Given the description of an element on the screen output the (x, y) to click on. 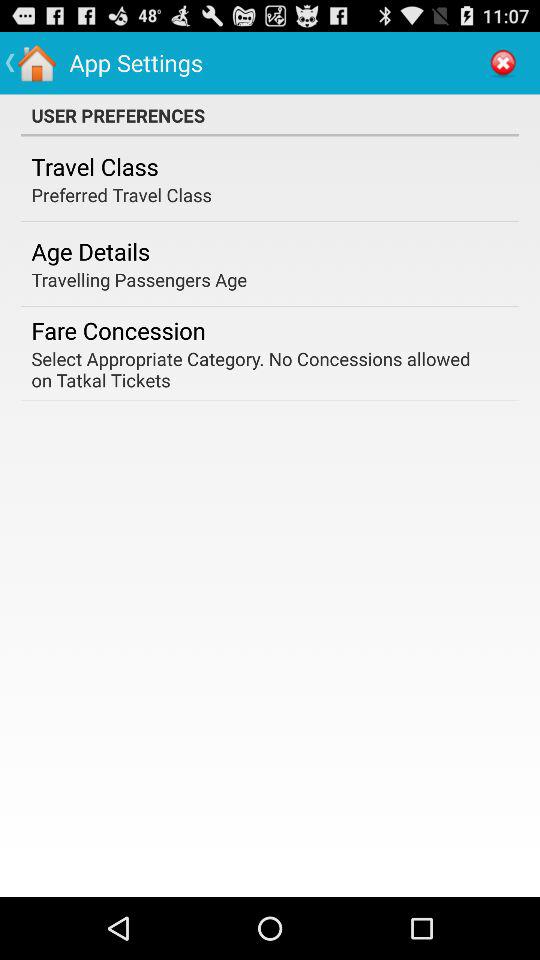
launch select appropriate category (263, 369)
